Given the description of an element on the screen output the (x, y) to click on. 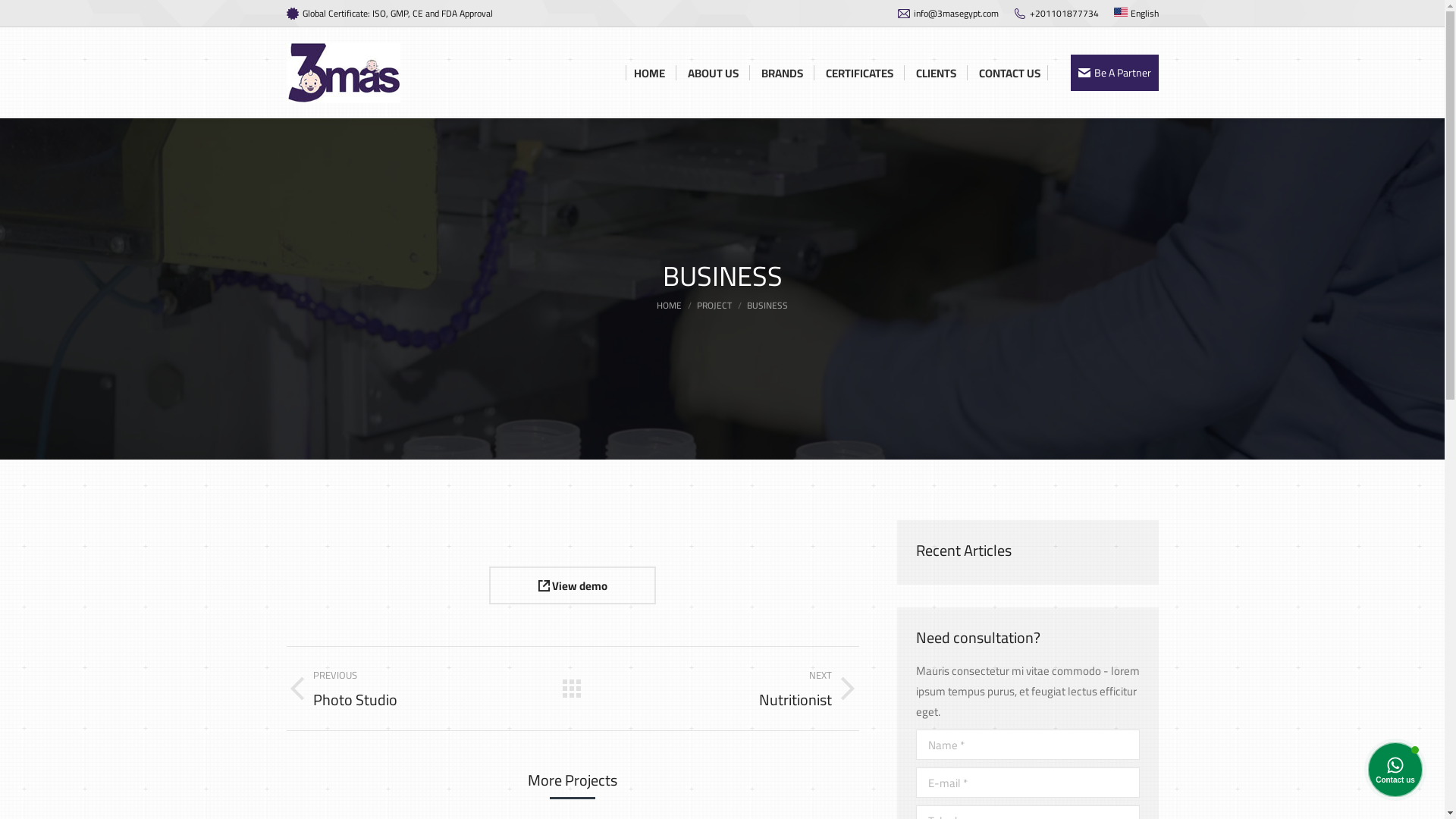
NEXT
Next project:
Nutritionist Element type: text (731, 688)
Post Comment Element type: text (56, 16)
Be A Partner Element type: text (1114, 72)
CONTACT US Element type: text (1008, 72)
 View demo Element type: text (572, 585)
BRANDS Element type: text (781, 72)
PREVIOUS
Previous project:
Photo Studio Element type: text (412, 688)
English Element type: text (1135, 13)
ABOUT US Element type: text (712, 72)
PROJECT Element type: text (713, 304)
HOME Element type: text (649, 72)
CERTIFICATES Element type: text (858, 72)
CLIENTS Element type: text (935, 72)
HOME Element type: text (668, 304)
+201101877734 Element type: text (1055, 13)
